Given the description of an element on the screen output the (x, y) to click on. 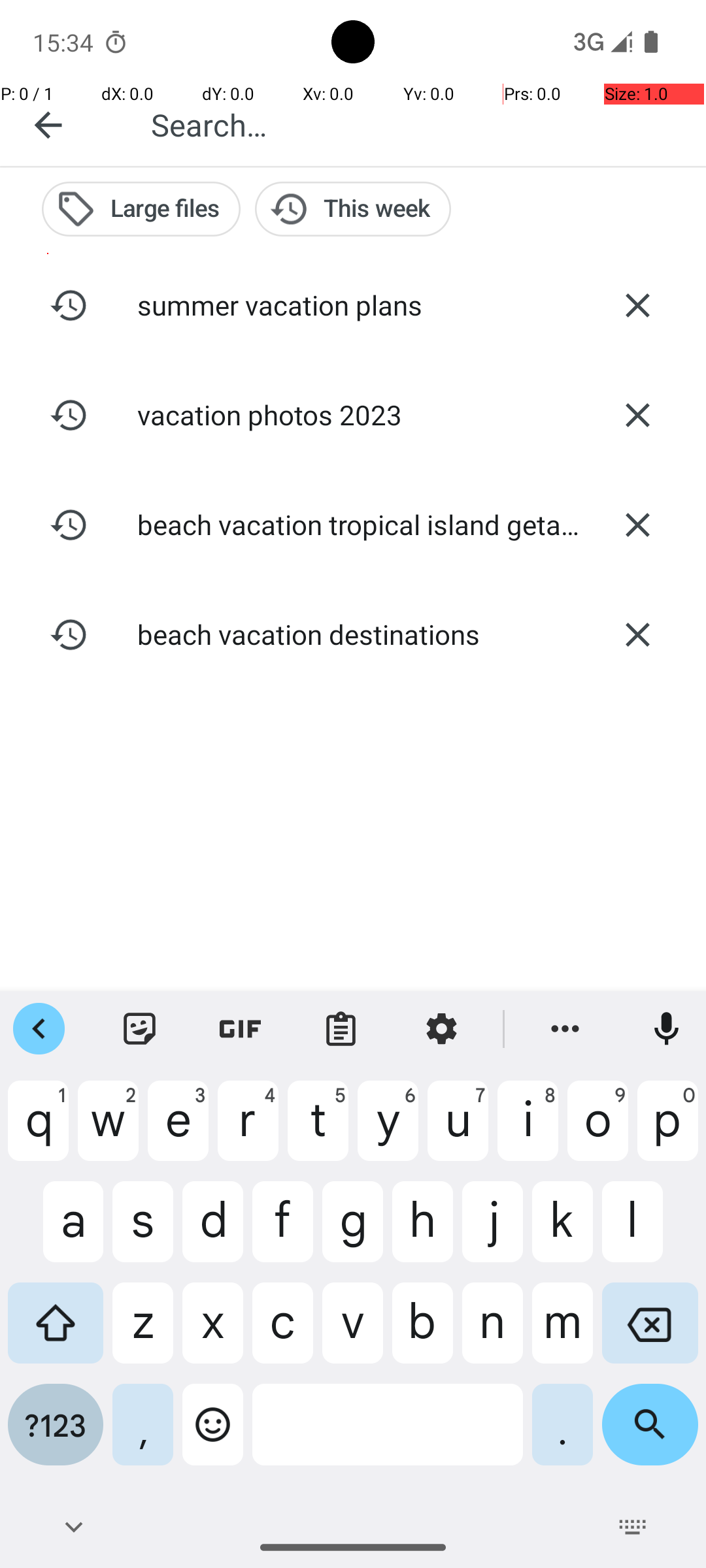
summer vacation plans Element type: android.widget.TextView (352, 304)
Delete search history summer vacation plans Element type: android.widget.ImageView (637, 304)
vacation photos 2023 Element type: android.widget.TextView (352, 414)
Delete search history vacation photos 2023 Element type: android.widget.ImageView (637, 414)
beach vacation tropical island getawaysdestinations Element type: android.widget.TextView (352, 523)
Delete search history beach vacation tropical island getawaysdestinations Element type: android.widget.ImageView (637, 524)
beach vacation destinations Element type: android.widget.TextView (352, 633)
Delete search history beach vacation destinations Element type: android.widget.ImageView (637, 634)
